Given the description of an element on the screen output the (x, y) to click on. 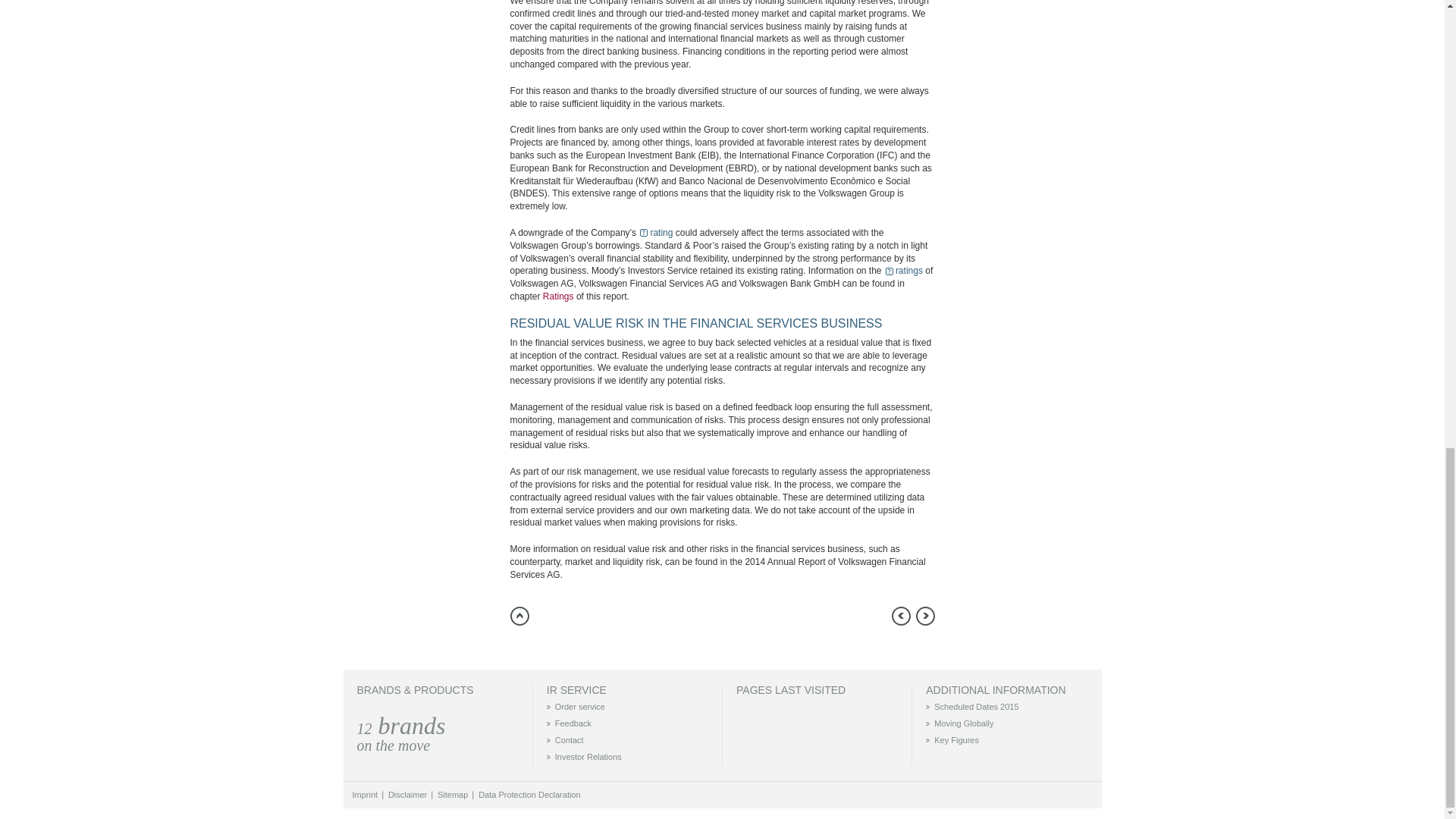
previous page: Litigation (901, 615)
next page: Other factors (924, 615)
